Given the description of an element on the screen output the (x, y) to click on. 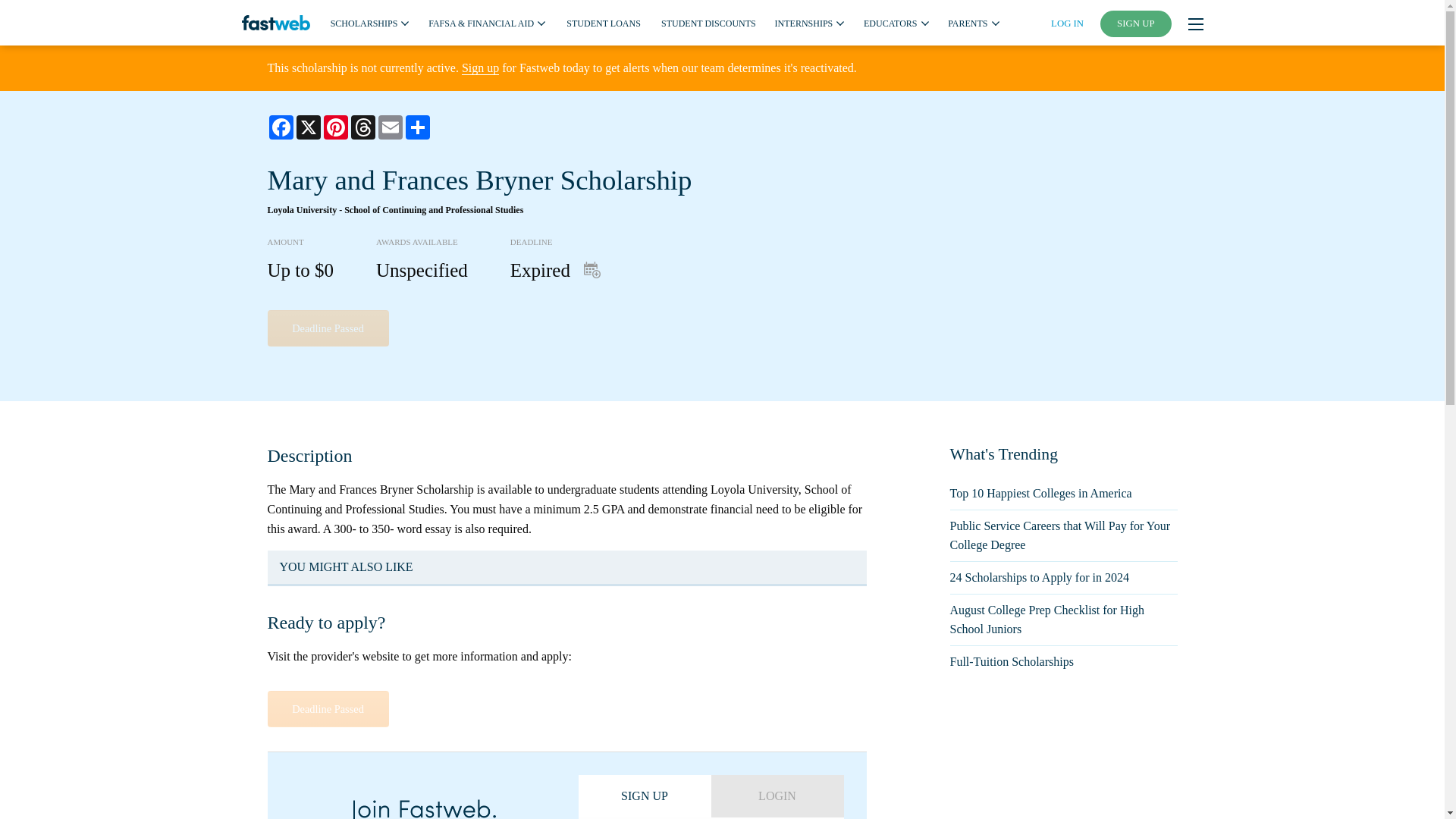
SIGN UP (1136, 23)
STUDENT LOANS (603, 22)
LOG IN (1067, 23)
STUDENT DISCOUNTS (708, 22)
